Given the description of an element on the screen output the (x, y) to click on. 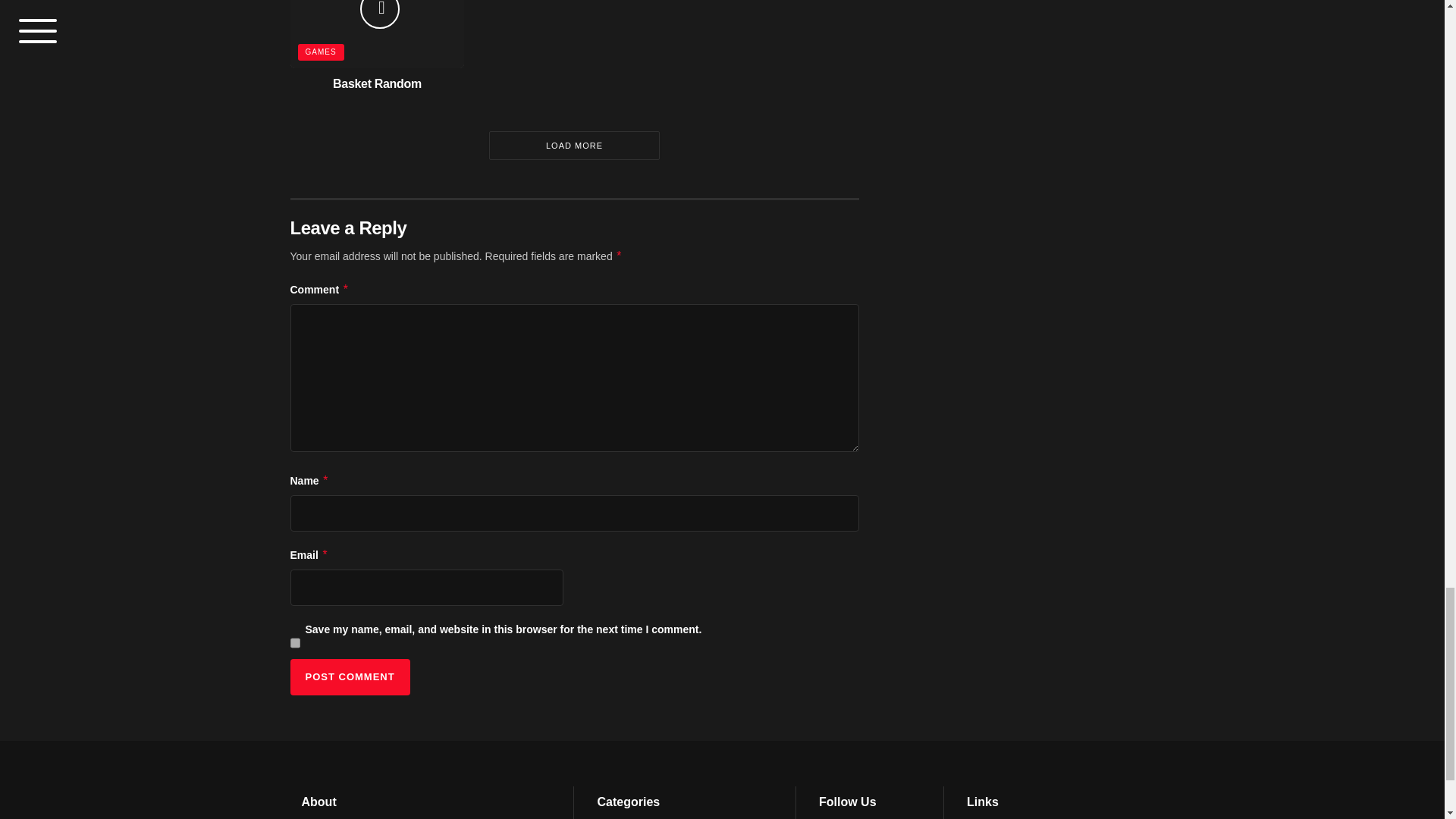
Post Comment (349, 677)
